Given the description of an element on the screen output the (x, y) to click on. 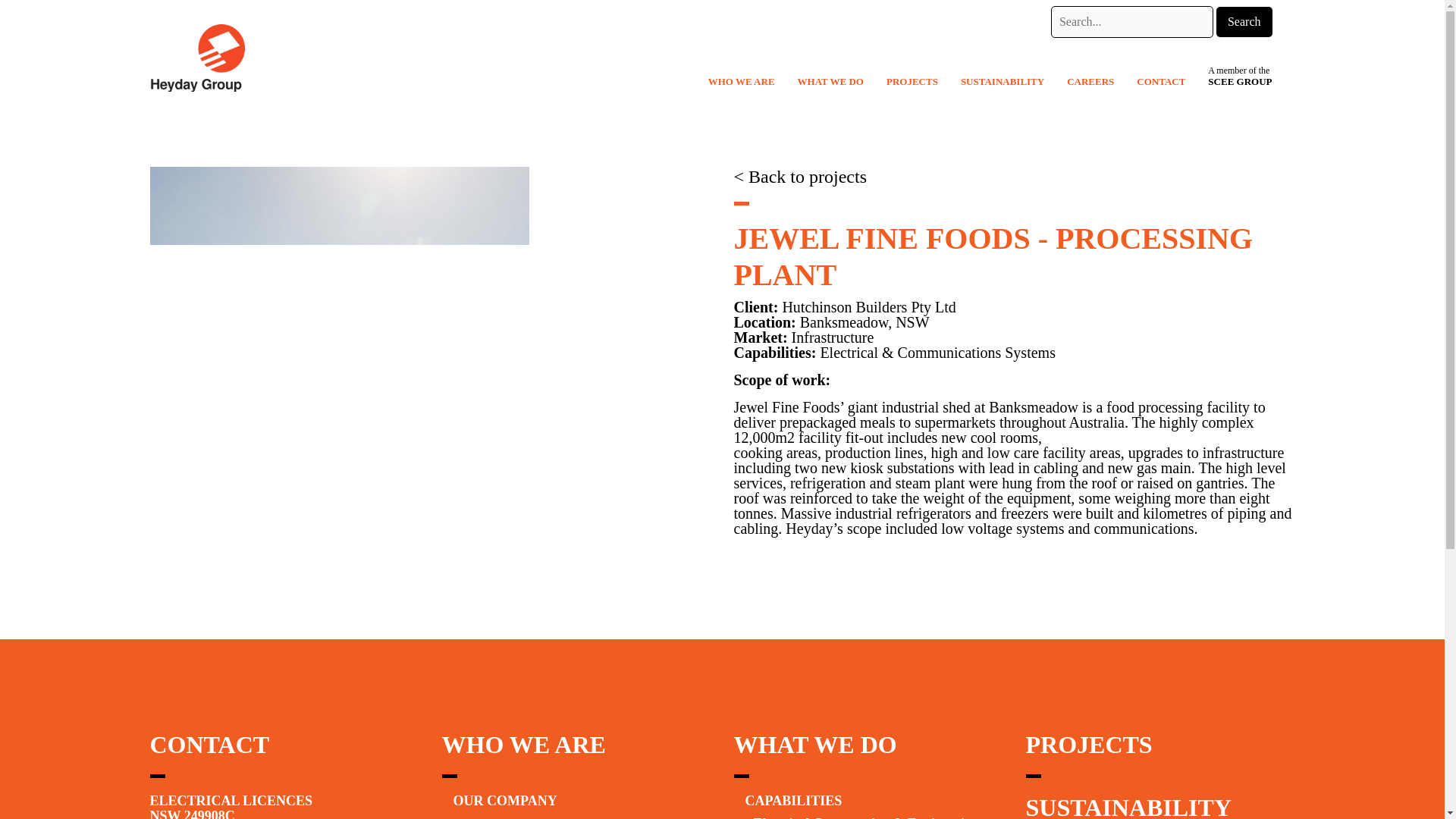
PROJECTS (1088, 744)
WHAT WE DO (838, 81)
OUR COMPANY (504, 800)
CAREERS (1098, 81)
SUSTAINABILITY (1009, 81)
WHO WE ARE (523, 744)
SUSTAINABILITY (1128, 806)
Search (1243, 21)
WHO WE ARE (748, 81)
WHAT WE DO (814, 744)
PROJECTS (919, 81)
CONTACT (1168, 81)
SCEE GROUP (1247, 81)
CONTACT (209, 744)
